Given the description of an element on the screen output the (x, y) to click on. 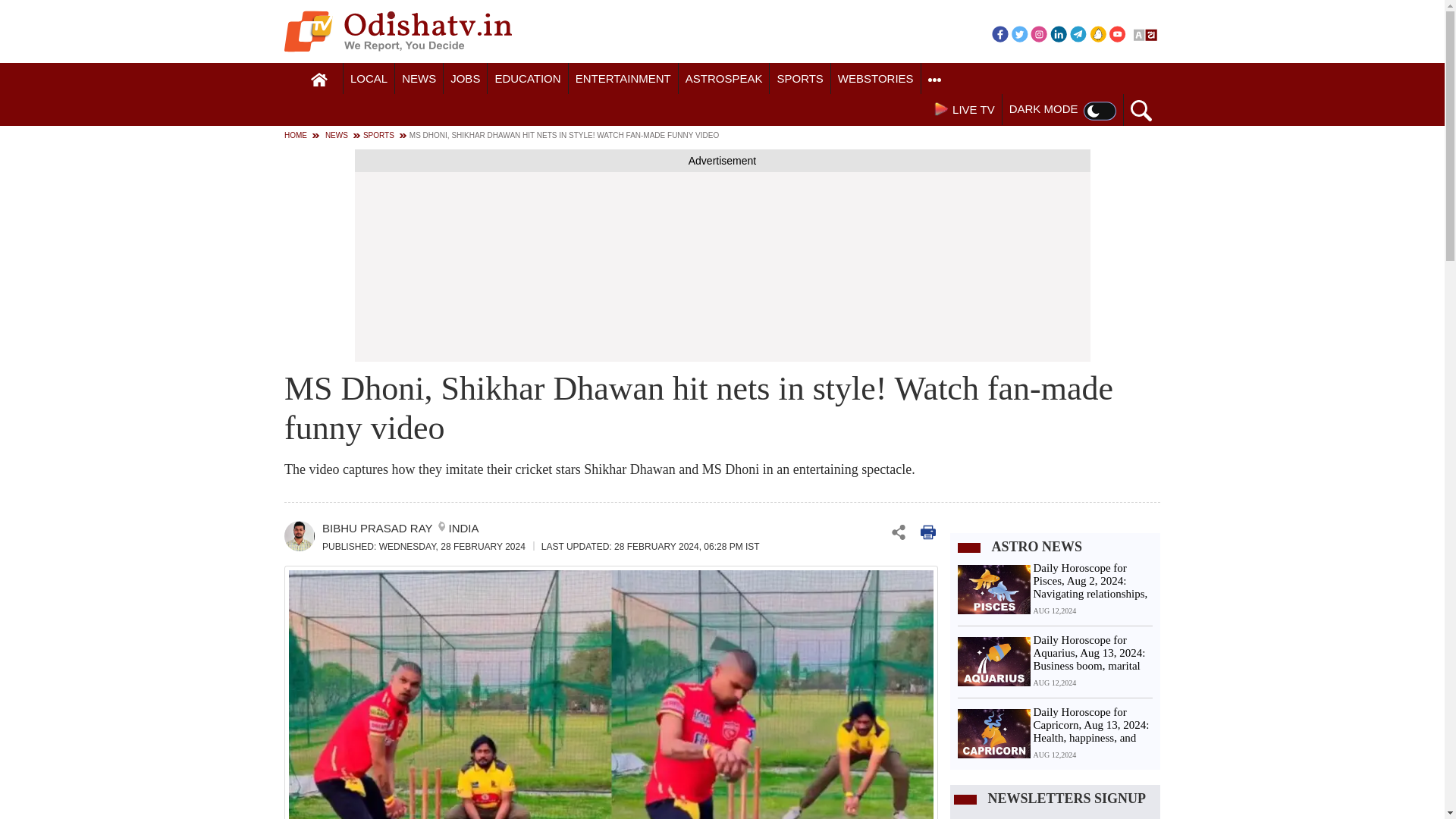
Instagram (1038, 33)
EDUCATION (527, 78)
Odisha (368, 78)
Youtube (1117, 33)
JOBS (465, 78)
Twitter (1019, 33)
OdishaTV (397, 31)
Koo (1097, 33)
Telegram (1078, 33)
ENTERTAINMENT (623, 78)
